Given the description of an element on the screen output the (x, y) to click on. 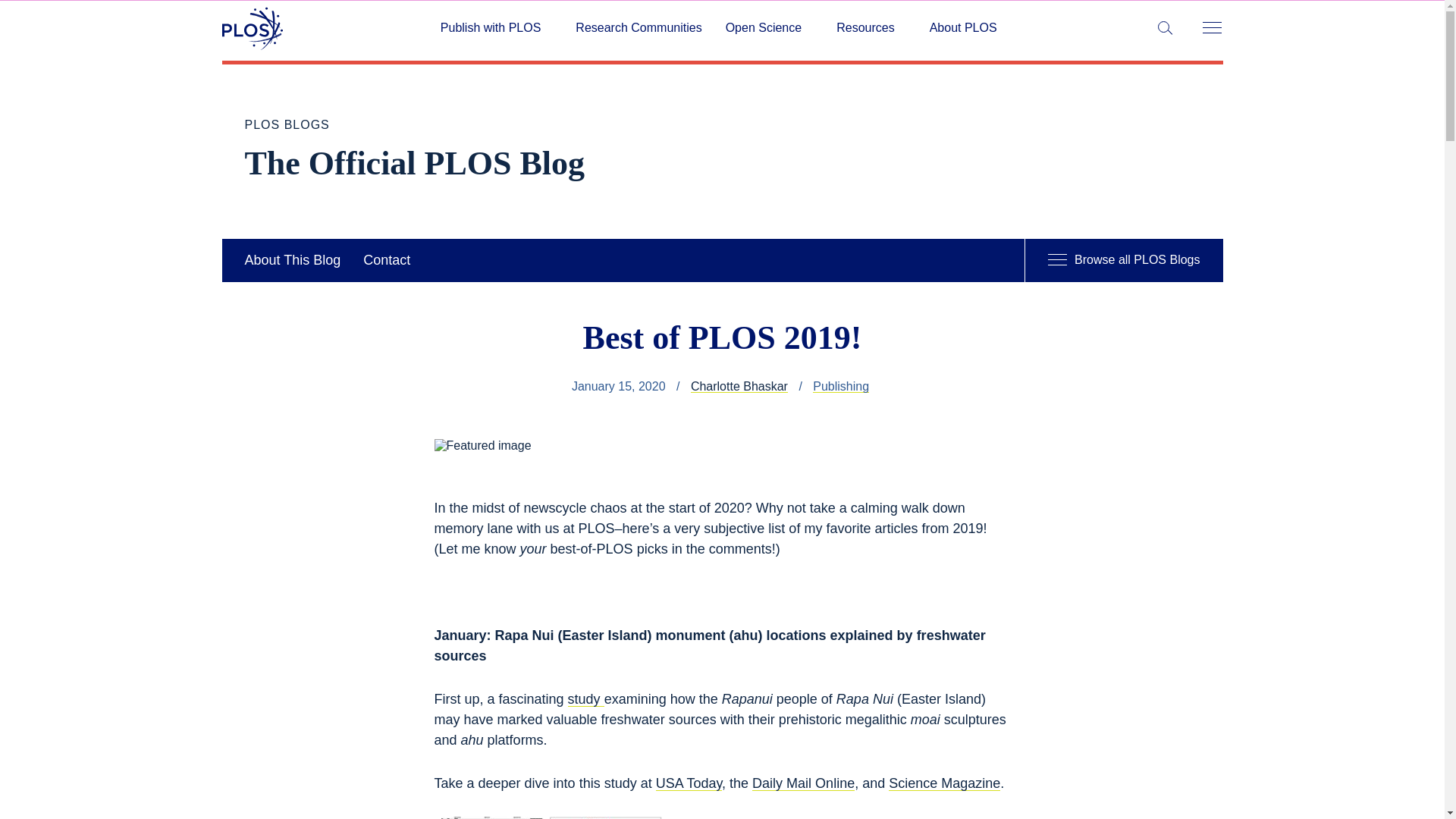
About PLOS (962, 28)
Search (15, 15)
Menu (1211, 28)
Open Science (769, 28)
Research Communities (638, 28)
Publish with PLOS (496, 28)
Resources (870, 28)
